Given the description of an element on the screen output the (x, y) to click on. 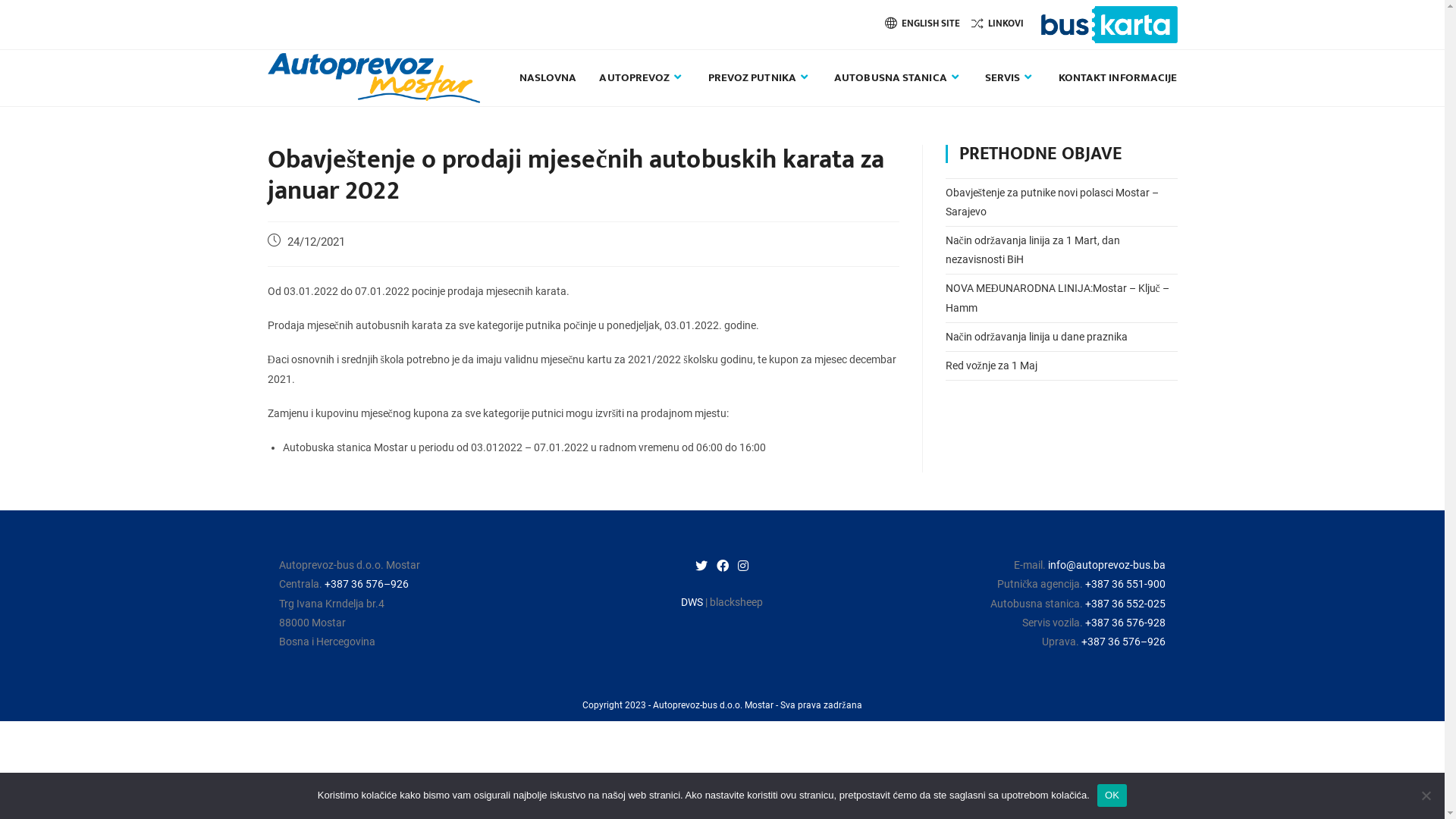
LINKOVI Element type: text (996, 23)
ENGLISH SITE Element type: text (921, 23)
AUTOBUSNA STANICA Element type: text (897, 78)
NASLOVNA Element type: text (548, 78)
No Element type: hover (1425, 795)
SERVIS Element type: text (1010, 78)
info@autoprevoz-bus.ba Element type: text (1106, 564)
+387 36 552-025 Element type: text (1125, 603)
AUTOPREVOZ Element type: text (641, 78)
KONTAKT INFORMACIJE Element type: text (1118, 78)
OK Element type: text (1111, 795)
+387 36 551-900 Element type: text (1125, 583)
+387 36 576-928 Element type: text (1125, 622)
DWS Element type: text (691, 602)
PREVOZ PUTNIKA Element type: text (759, 78)
